Given the description of an element on the screen output the (x, y) to click on. 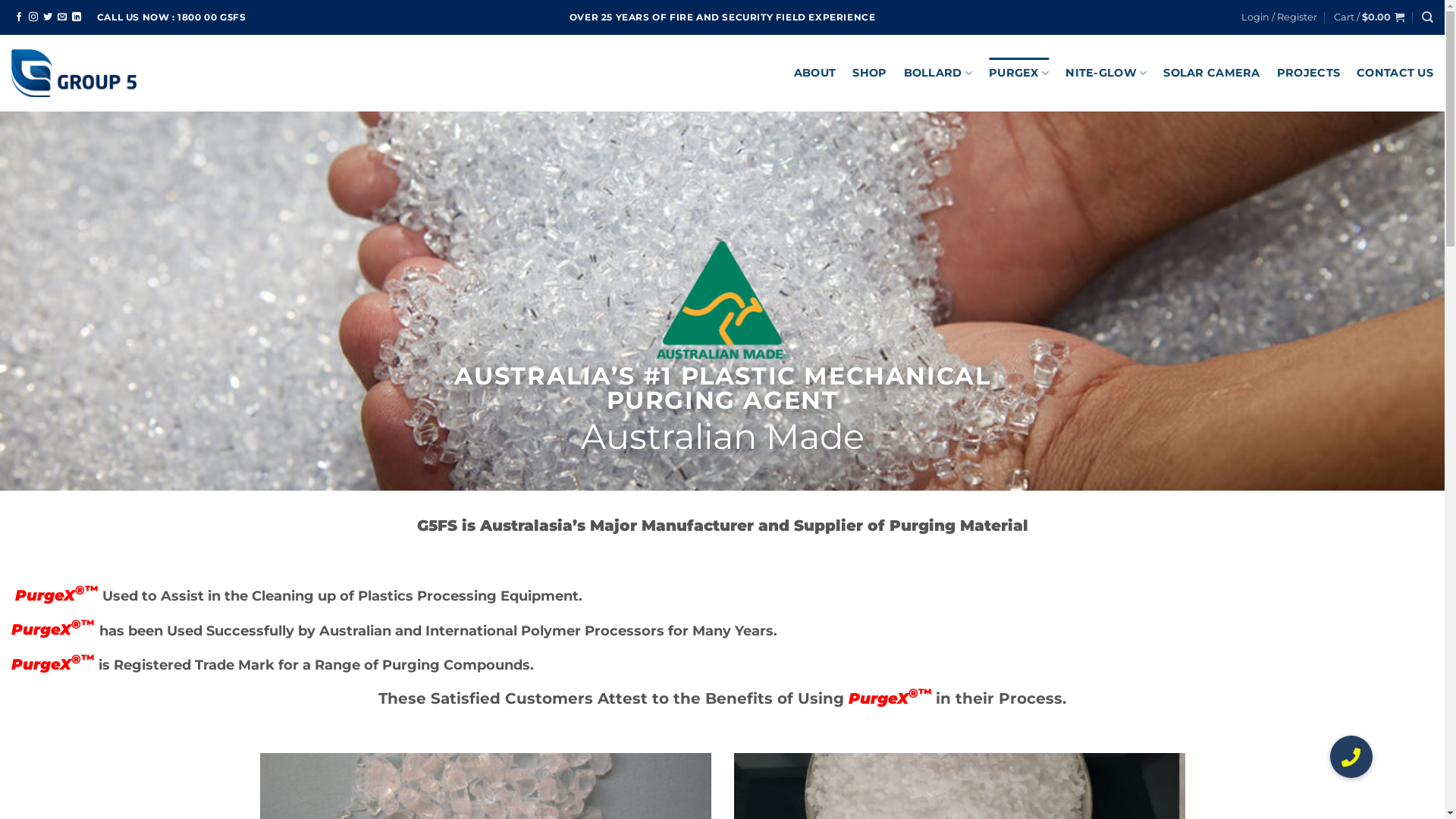
Login / Register Element type: text (1279, 17)
NITE-GLOW Element type: text (1105, 72)
ABOUT Element type: text (814, 72)
Follow on Twitter Element type: hover (47, 17)
SHOP Element type: text (869, 72)
Follow on Instagram Element type: hover (32, 17)
PROJECTS Element type: text (1308, 72)
Follow on LinkedIn Element type: hover (76, 17)
BOLLARD Element type: text (937, 72)
CONTACT US Element type: text (1394, 72)
SOLAR CAMERA Element type: text (1211, 72)
Send us an email Element type: hover (61, 17)
PURGEX Element type: text (1018, 72)
G5FS - Group 5  Element type: hover (73, 73)
Cart / $0.00 Element type: text (1368, 17)
Follow on Facebook Element type: hover (18, 17)
